Given the description of an element on the screen output the (x, y) to click on. 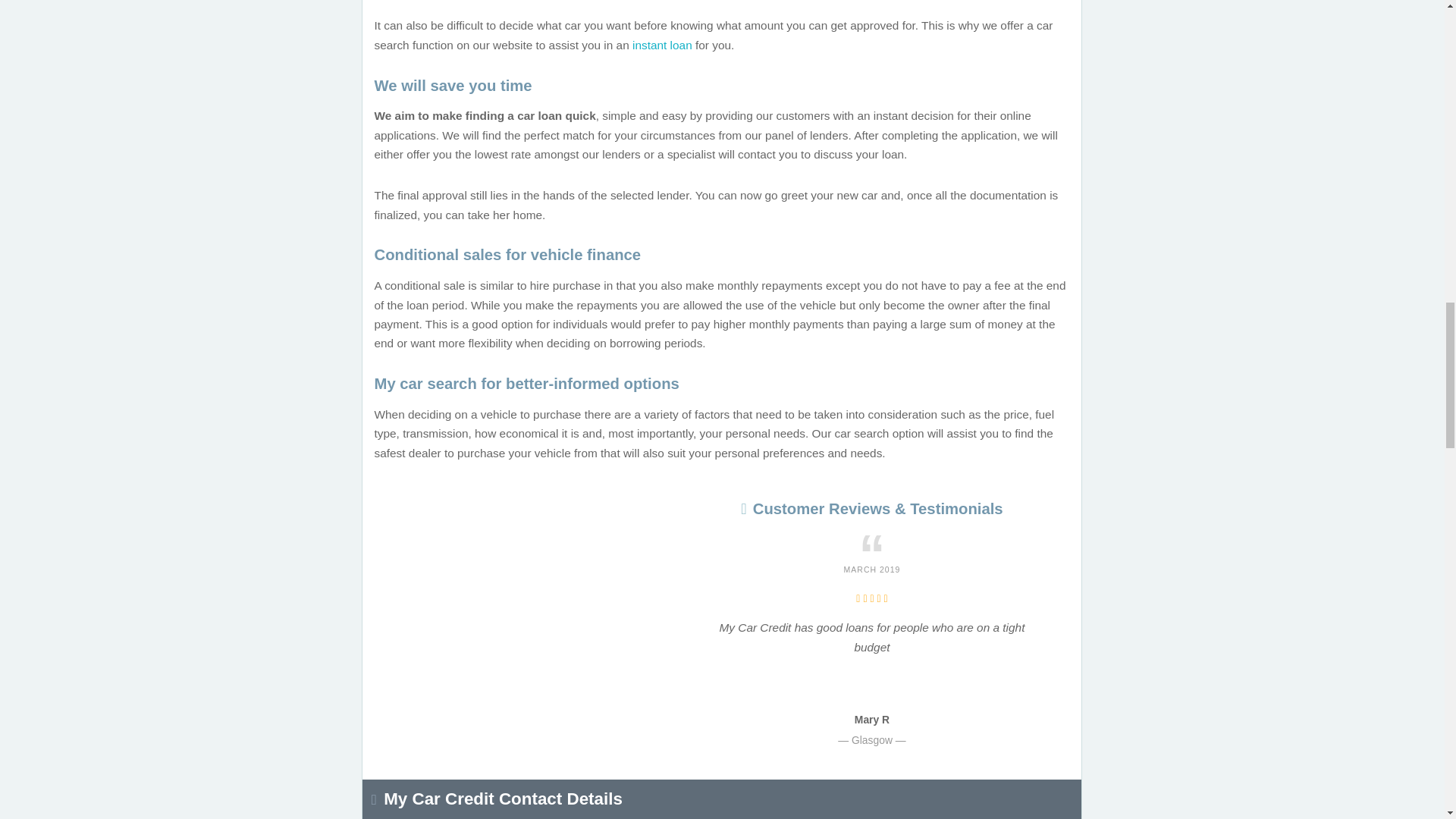
instant loan (662, 44)
